Given the description of an element on the screen output the (x, y) to click on. 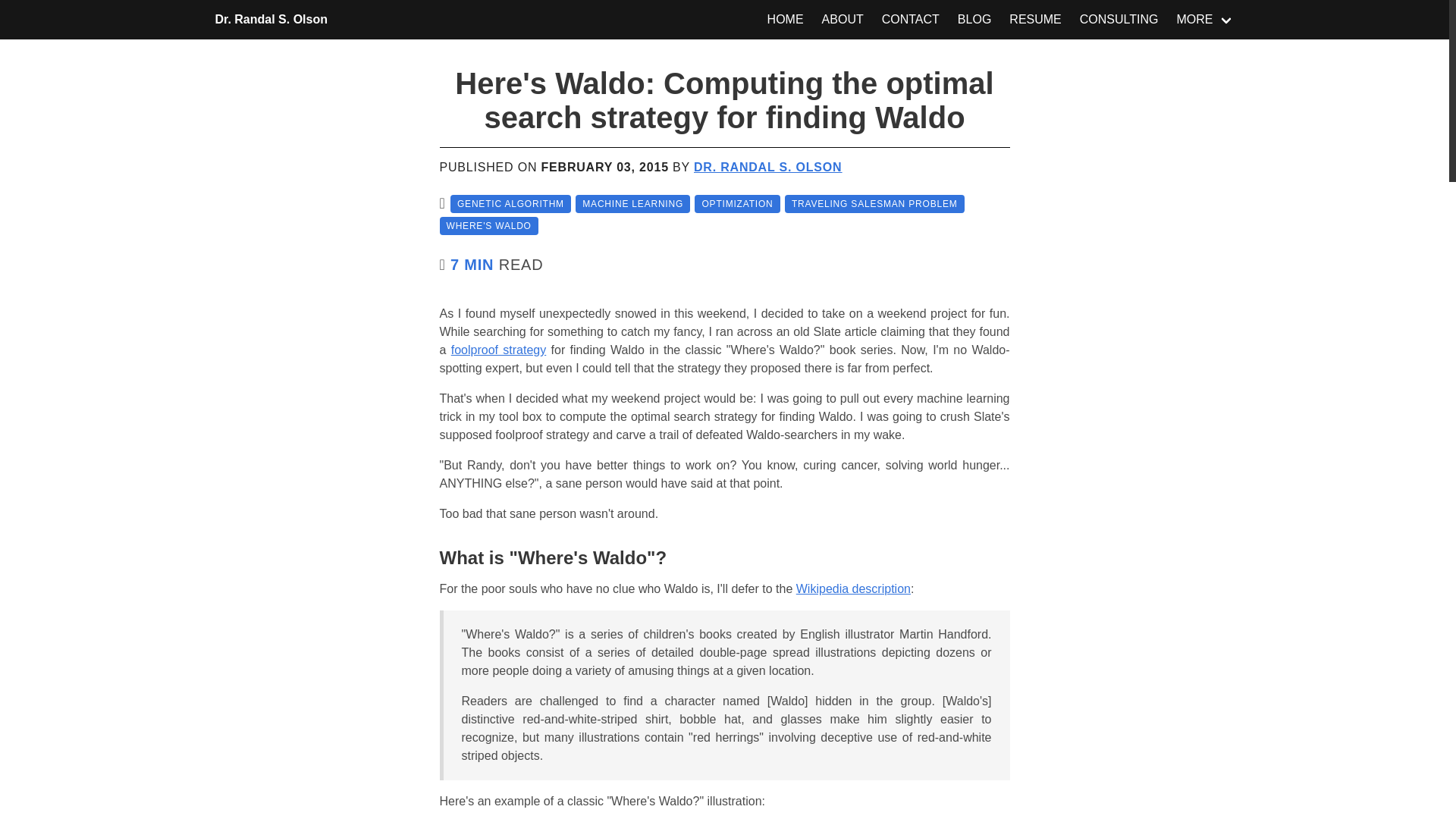
CONTACT (910, 19)
DR. RANDAL S. OLSON (767, 166)
BLOG (974, 19)
RESUME (1035, 19)
ABOUT (842, 19)
foolproof strategy (499, 349)
Dr. Randal S. Olson (271, 19)
CONSULTING (1118, 19)
MORE (1205, 19)
